Given the description of an element on the screen output the (x, y) to click on. 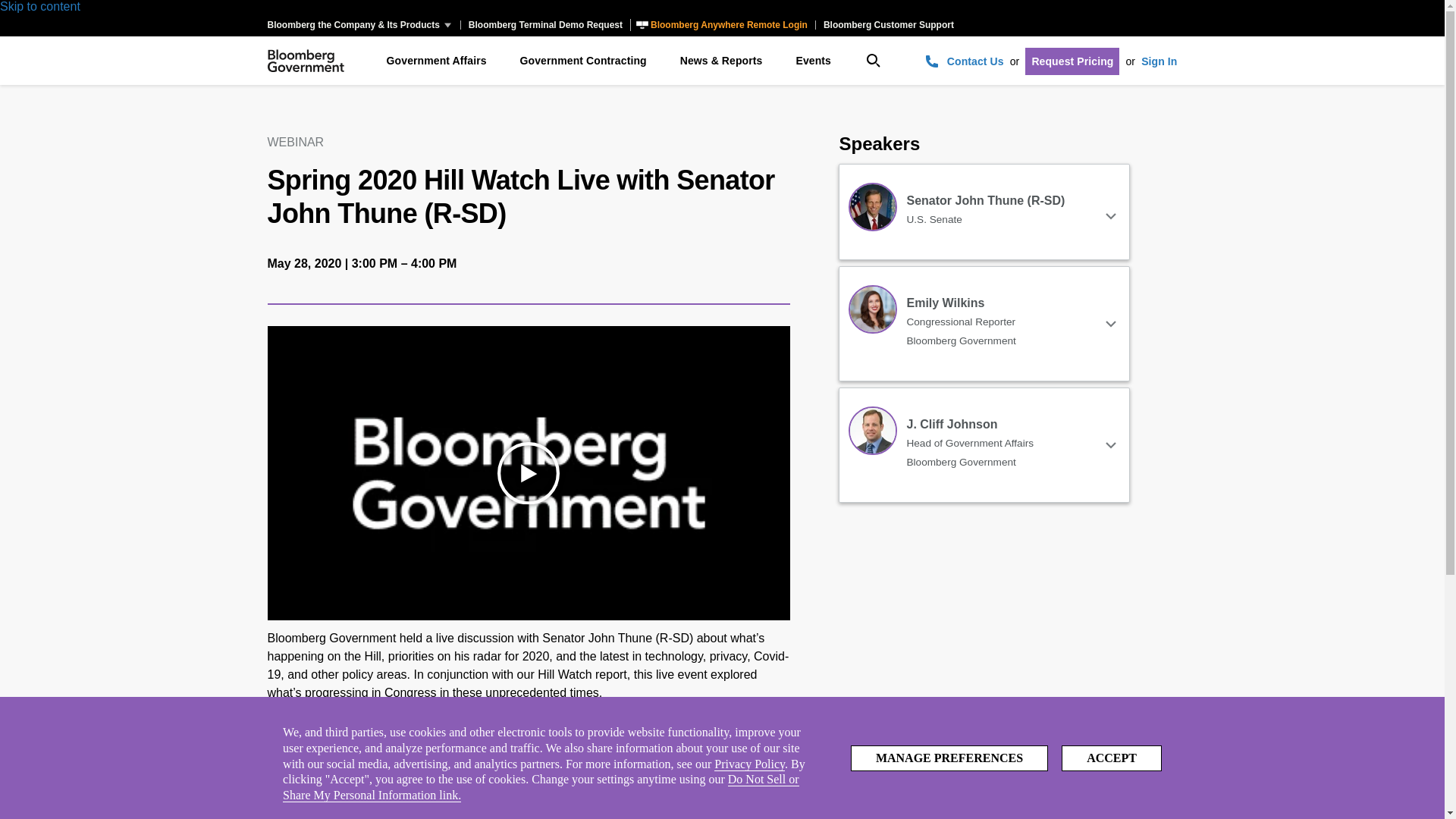
Skip to content (40, 6)
Bloomberg Terminal Demo Request (545, 24)
TOP (1403, 768)
Bloomberg Customer Support (887, 24)
Bloomberg Anywhere Remote Login (722, 24)
